Given the description of an element on the screen output the (x, y) to click on. 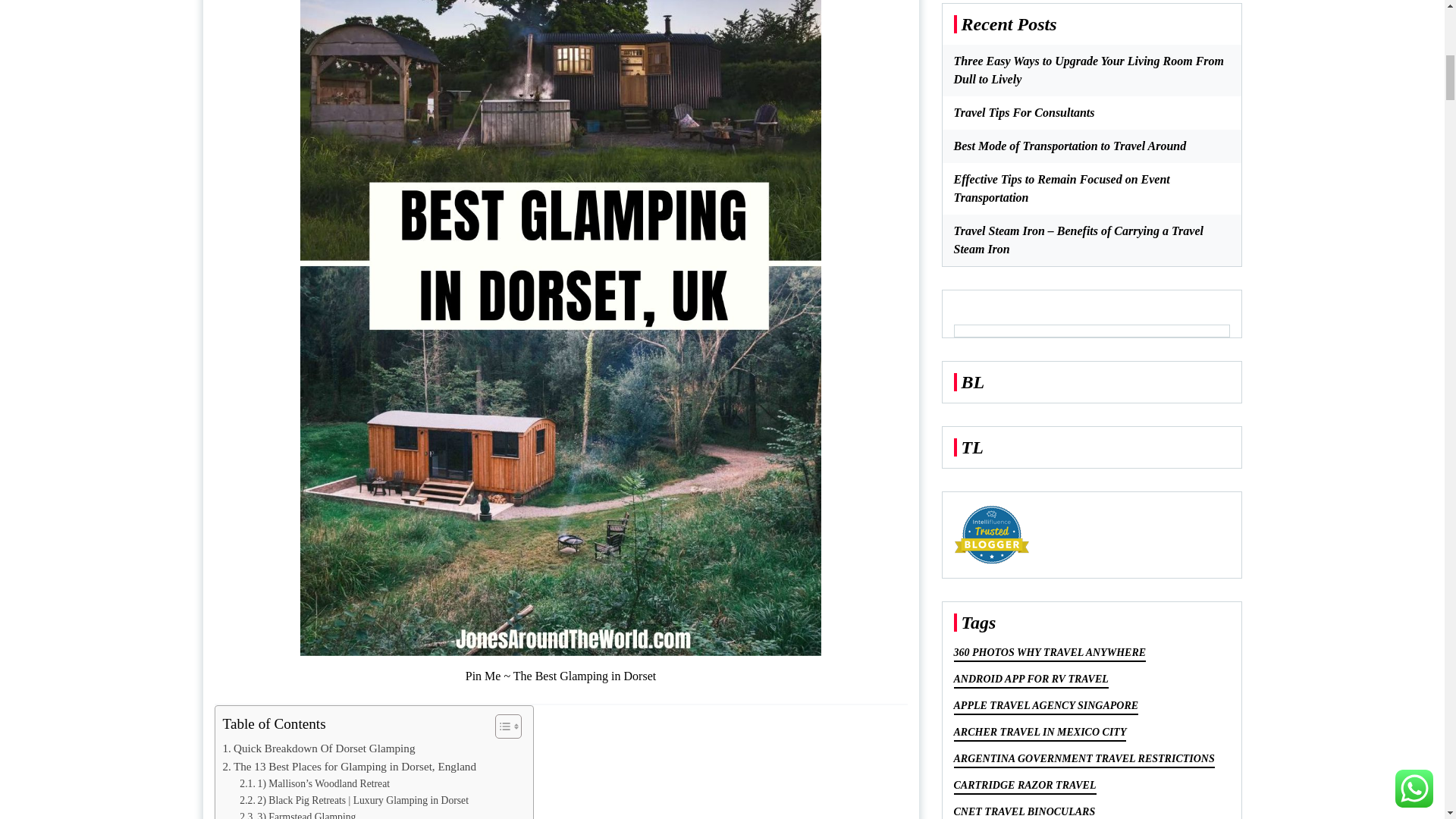
The 13 Best Places for Glamping in Dorset, England (349, 766)
Quick Breakdown Of Dorset Glamping (318, 747)
